Given the description of an element on the screen output the (x, y) to click on. 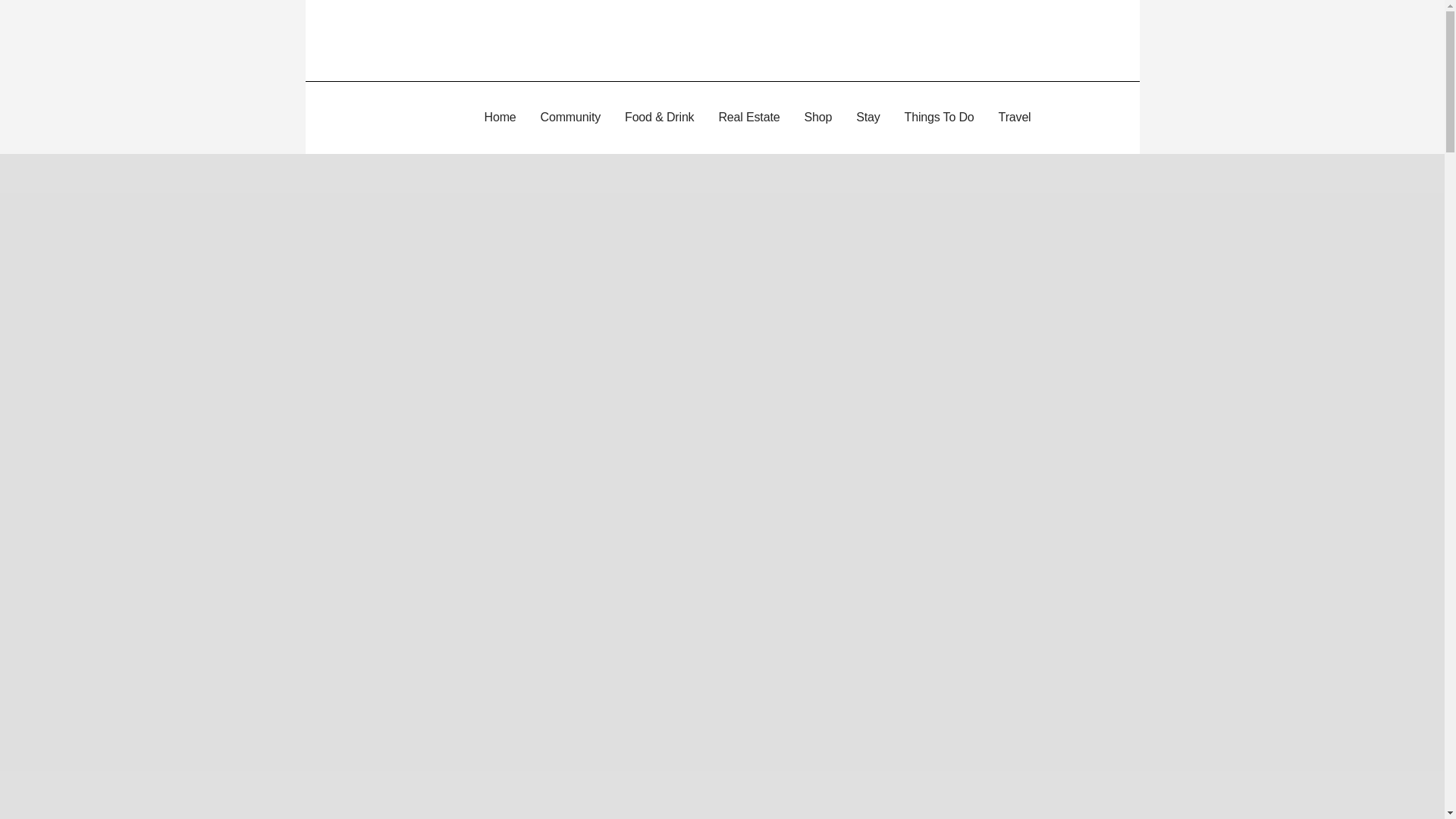
Things To Do (939, 117)
Community (570, 117)
Real Estate (749, 117)
